Given the description of an element on the screen output the (x, y) to click on. 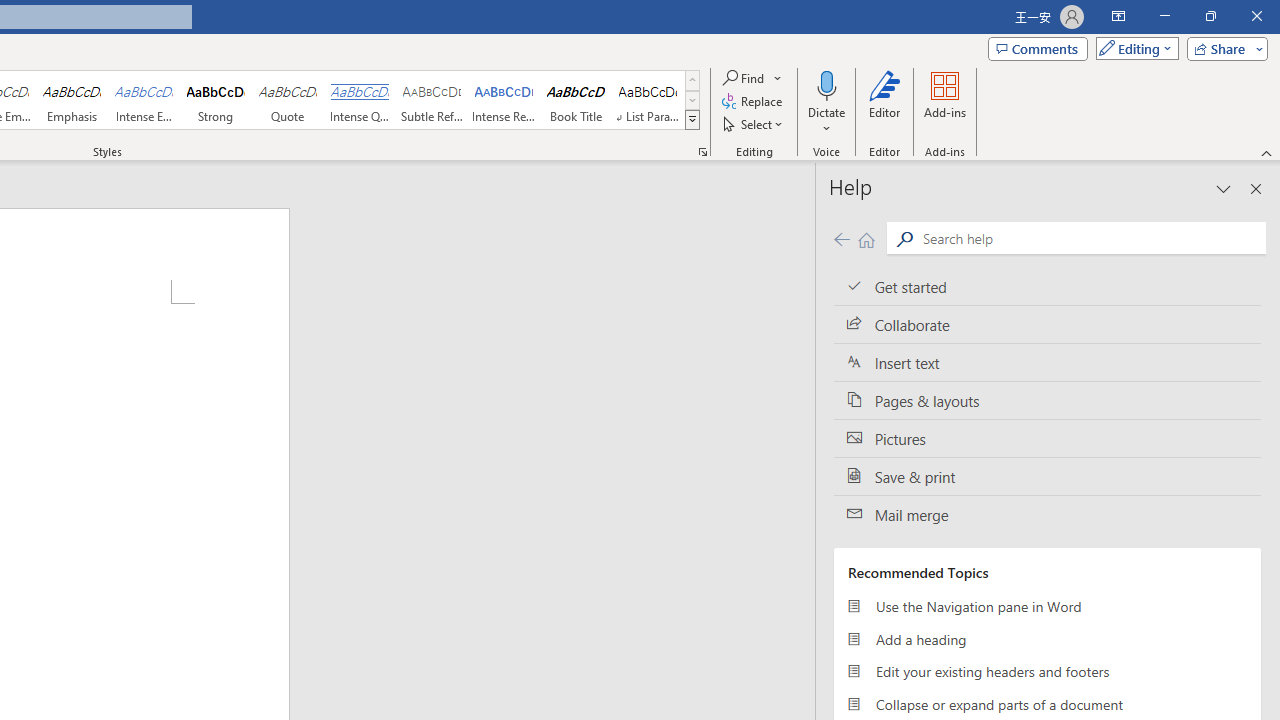
More Options (826, 121)
Comments (1038, 48)
Intense Emphasis (143, 100)
Book Title (575, 100)
Styles (692, 120)
Row Down (692, 100)
Share (1223, 48)
Pages & layouts (1047, 400)
Styles... (702, 151)
Minimize (1164, 16)
Class: NetUIImage (692, 119)
Subtle Reference (431, 100)
Dictate (826, 102)
Edit your existing headers and footers (1047, 672)
